Given the description of an element on the screen output the (x, y) to click on. 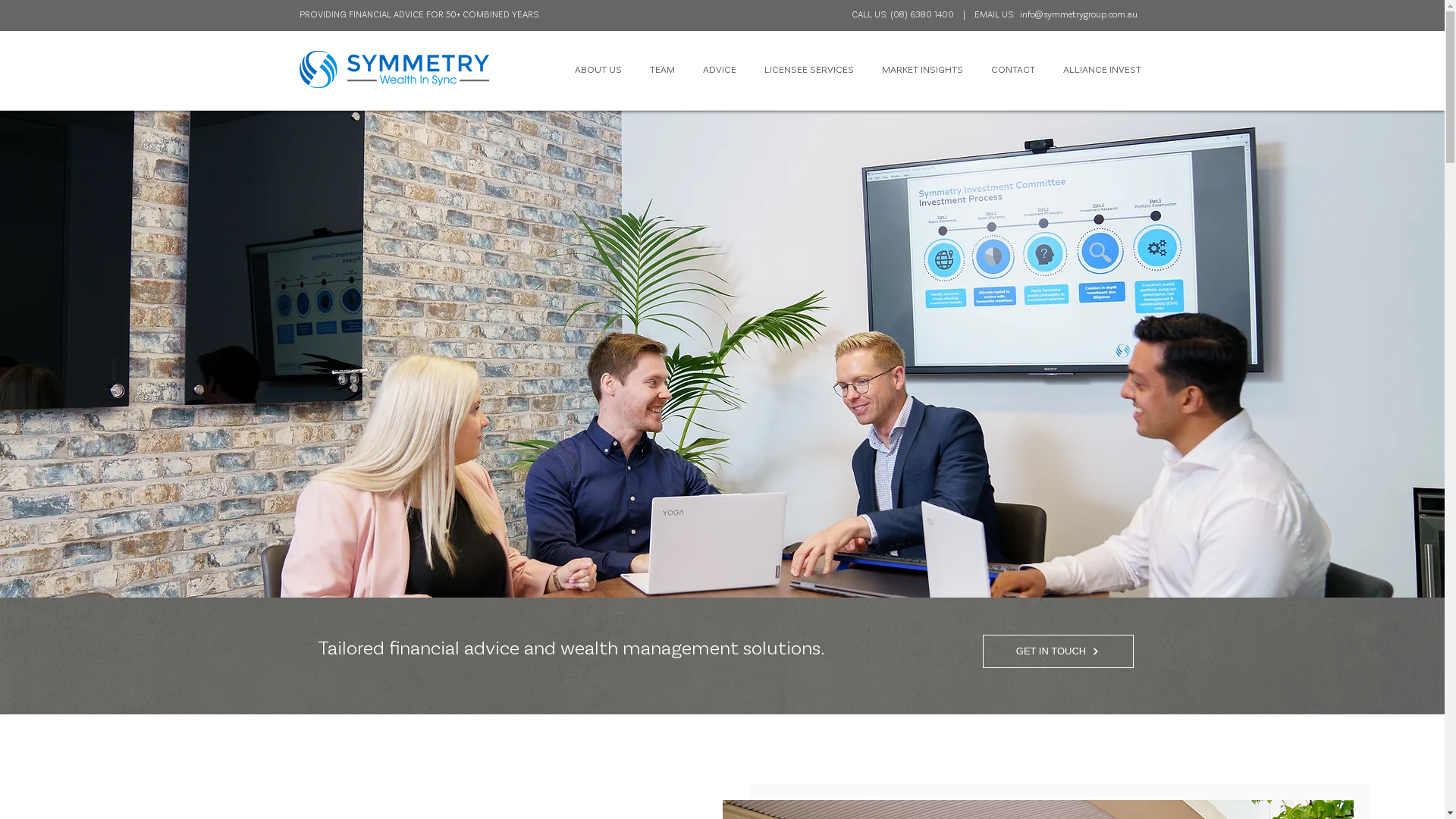
CONTACT Element type: text (1012, 68)
info@symmetrygroup.com.au Element type: text (1077, 13)
TEAM Element type: text (661, 68)
ADVICE Element type: text (718, 68)
(08) 6380 1400  Element type: text (921, 13)
GET IN TOUCH Element type: text (1057, 651)
ABOUT US Element type: text (598, 68)
MARKET INSIGHTS Element type: text (921, 68)
ALLIANCE INVEST Element type: text (1101, 68)
LICENSEE SERVICES Element type: text (809, 68)
